Given the description of an element on the screen output the (x, y) to click on. 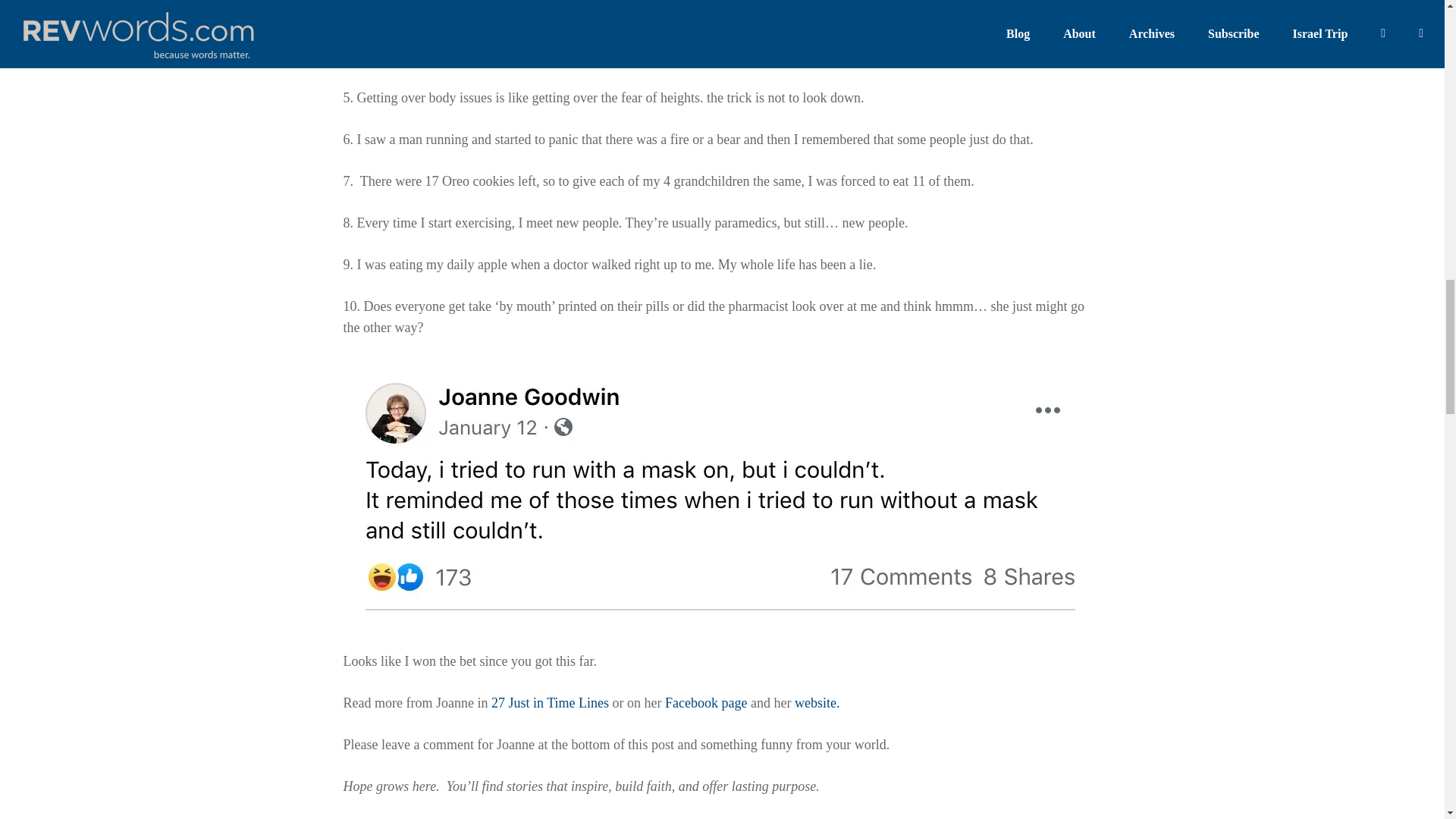
27 Just in Time Lines (550, 702)
website. (817, 702)
Facebook page (705, 702)
